Given the description of an element on the screen output the (x, y) to click on. 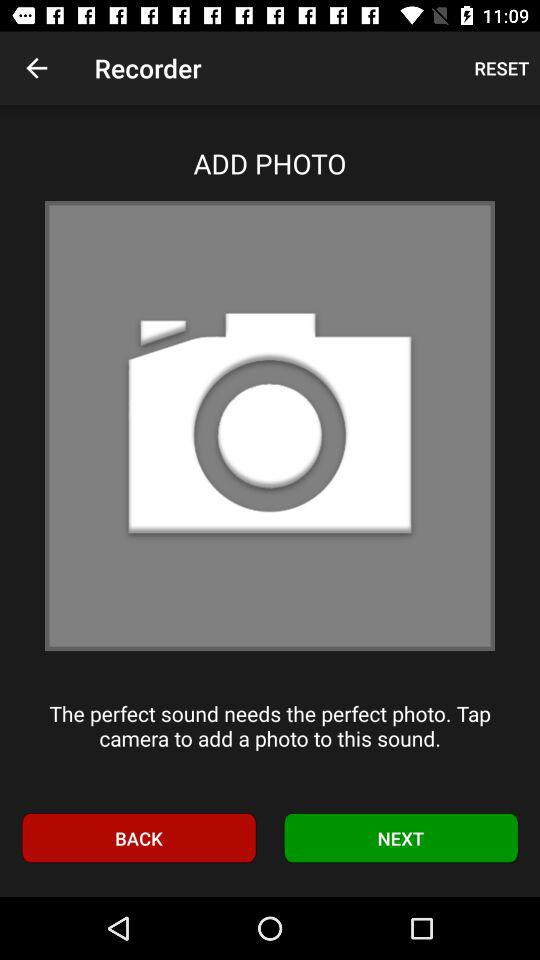
flip to reset item (501, 67)
